Given the description of an element on the screen output the (x, y) to click on. 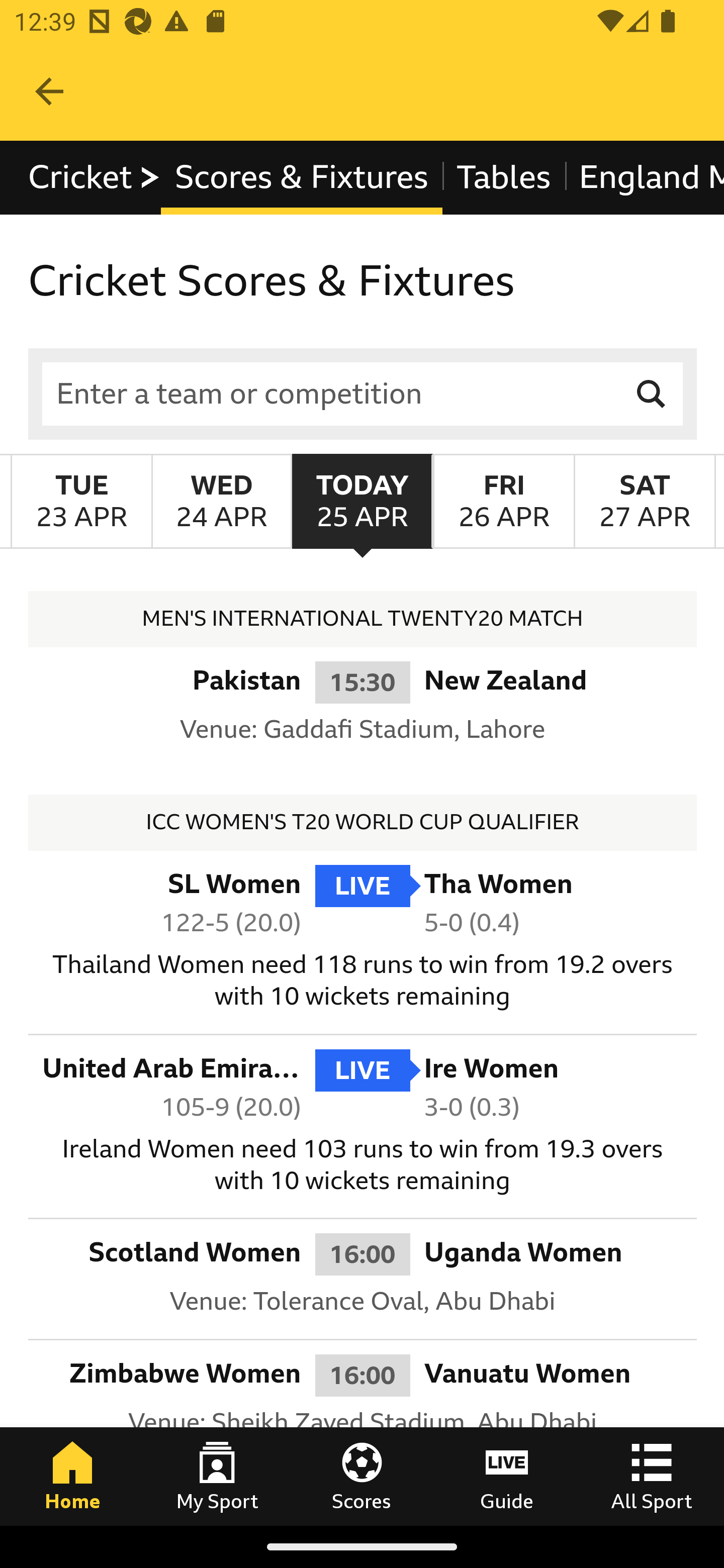
Navigate up (49, 91)
Cricket  (95, 177)
Scores & Fixtures (301, 177)
Tables (503, 177)
Search (651, 393)
TuesdayApril 23rd Tuesday April 23rd (81, 500)
WednesdayApril 24th Wednesday April 24th (221, 500)
FridayApril 26th Friday April 26th (502, 500)
SaturdayApril 27th Saturday April 27th (644, 500)
My Sport (216, 1475)
Scores (361, 1475)
Guide (506, 1475)
All Sport (651, 1475)
